Given the description of an element on the screen output the (x, y) to click on. 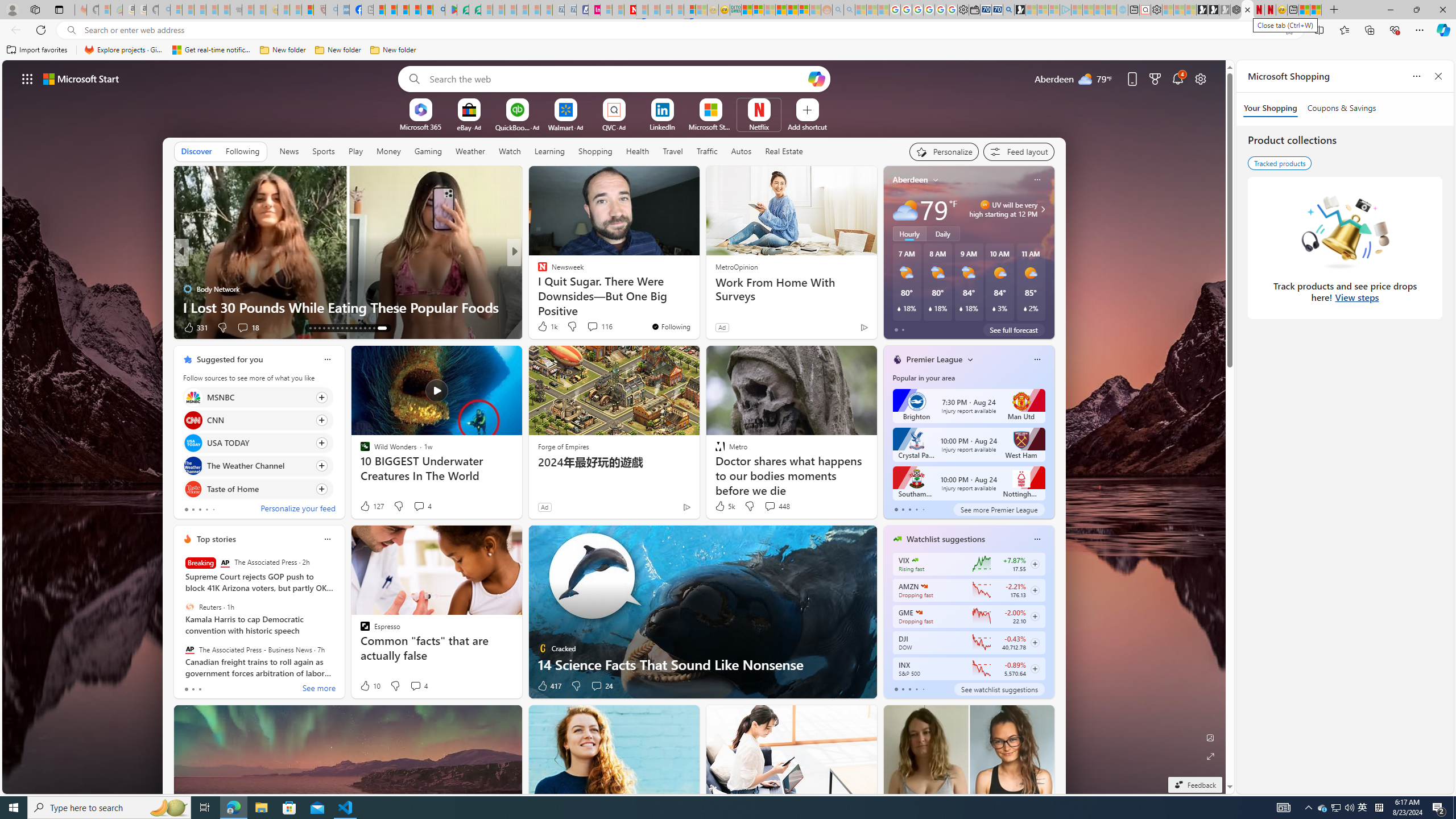
Click to follow source CNN (257, 419)
AutomationID: tab-17 (328, 328)
GAMESTOP CORP. (919, 612)
331 Like (194, 327)
Premier League (933, 359)
Forge of Empires (563, 446)
